Given the description of an element on the screen output the (x, y) to click on. 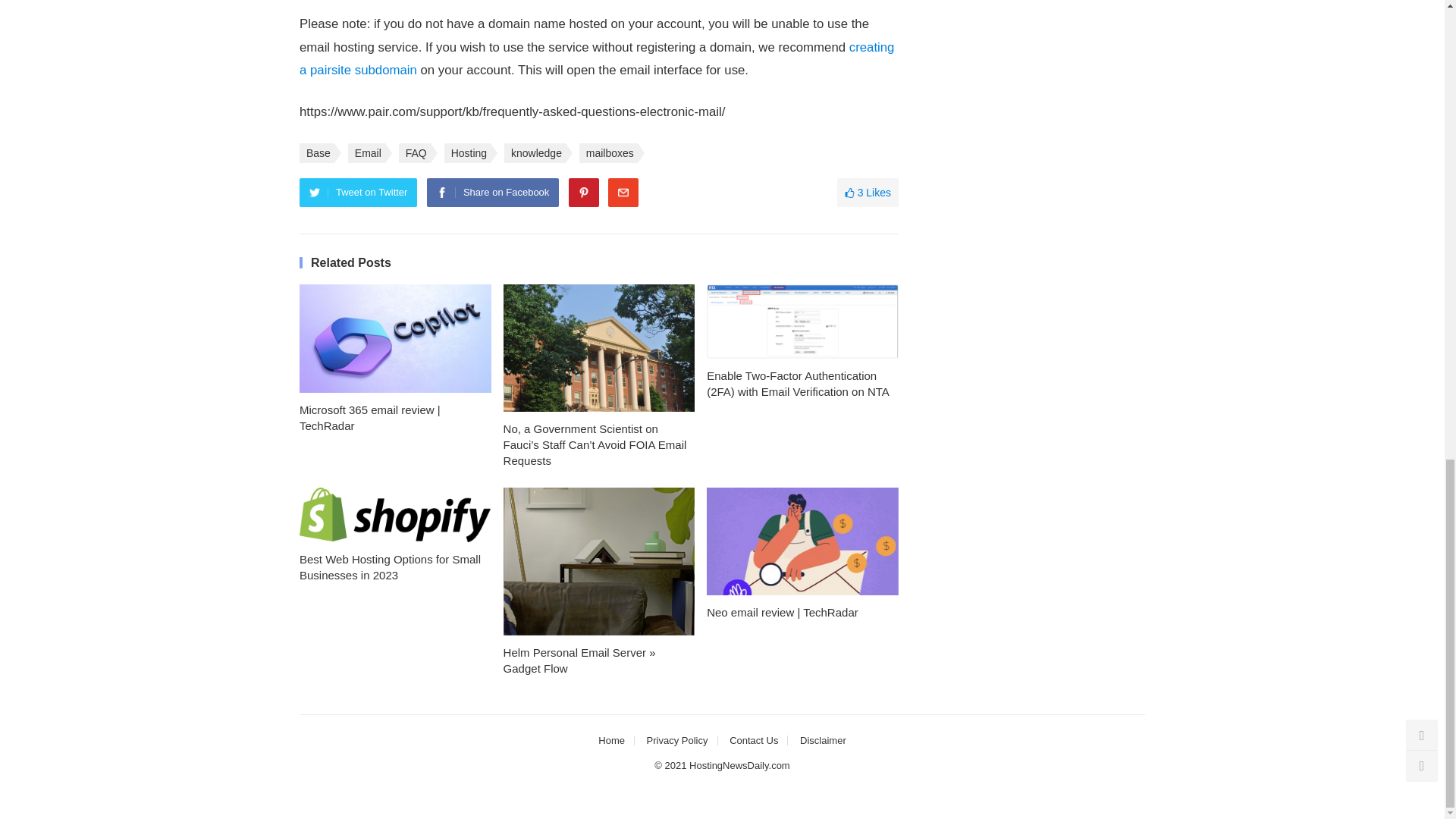
Email (366, 152)
creating a pairsite subdomain (596, 58)
FAQ (414, 152)
Like this post (867, 192)
Hosting (467, 152)
Best Web Hosting Options for Small Businesses in 2023 (395, 514)
knowledge (534, 152)
Base (316, 152)
